Given the description of an element on the screen output the (x, y) to click on. 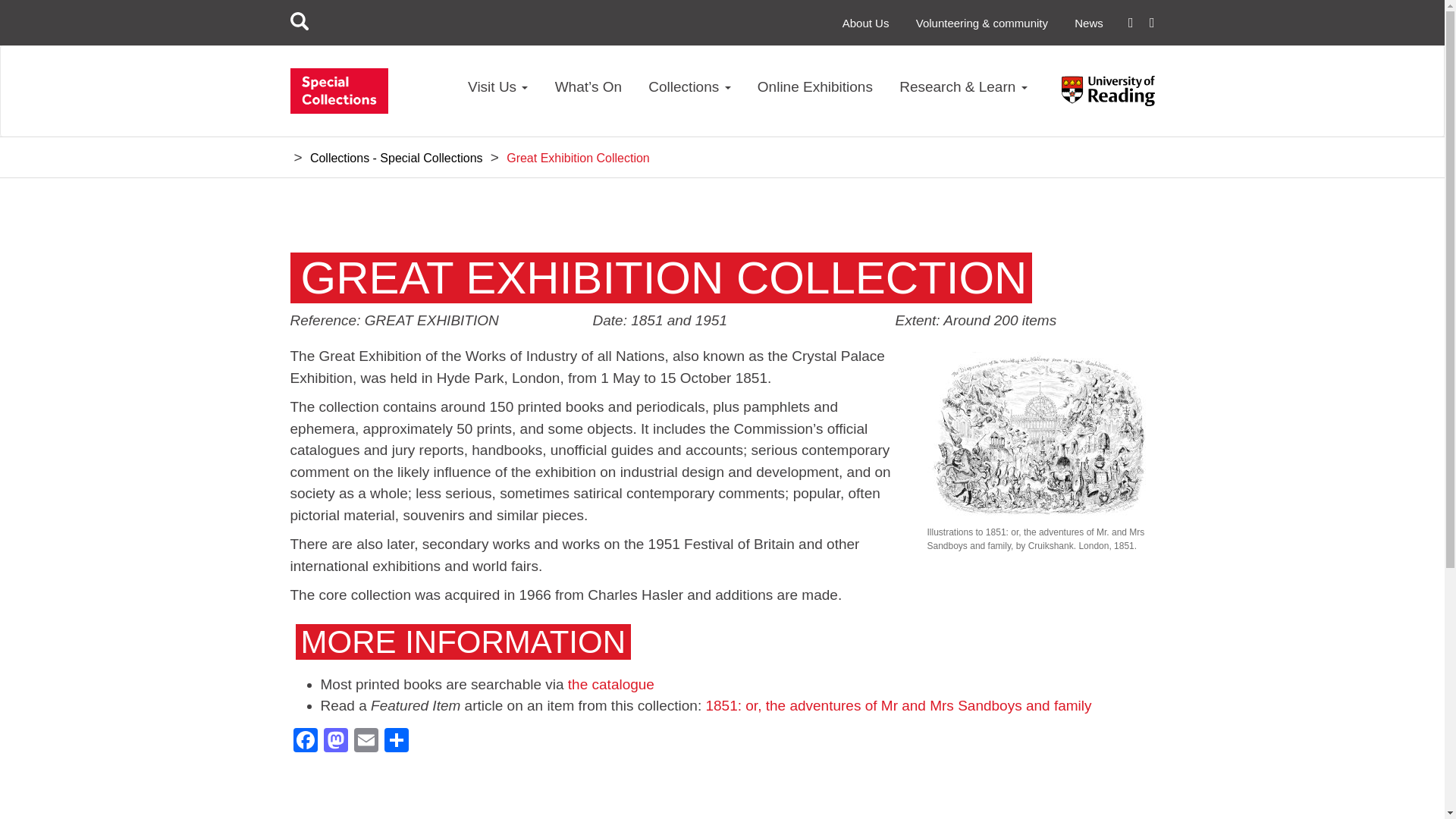
Collections (689, 94)
Mastodon (335, 741)
News (1088, 22)
Online Exhibitions (814, 94)
Email (365, 741)
Collections (689, 94)
the catalogue (610, 684)
About Us (866, 22)
Visit Us (497, 94)
Facebook (304, 741)
